Given the description of an element on the screen output the (x, y) to click on. 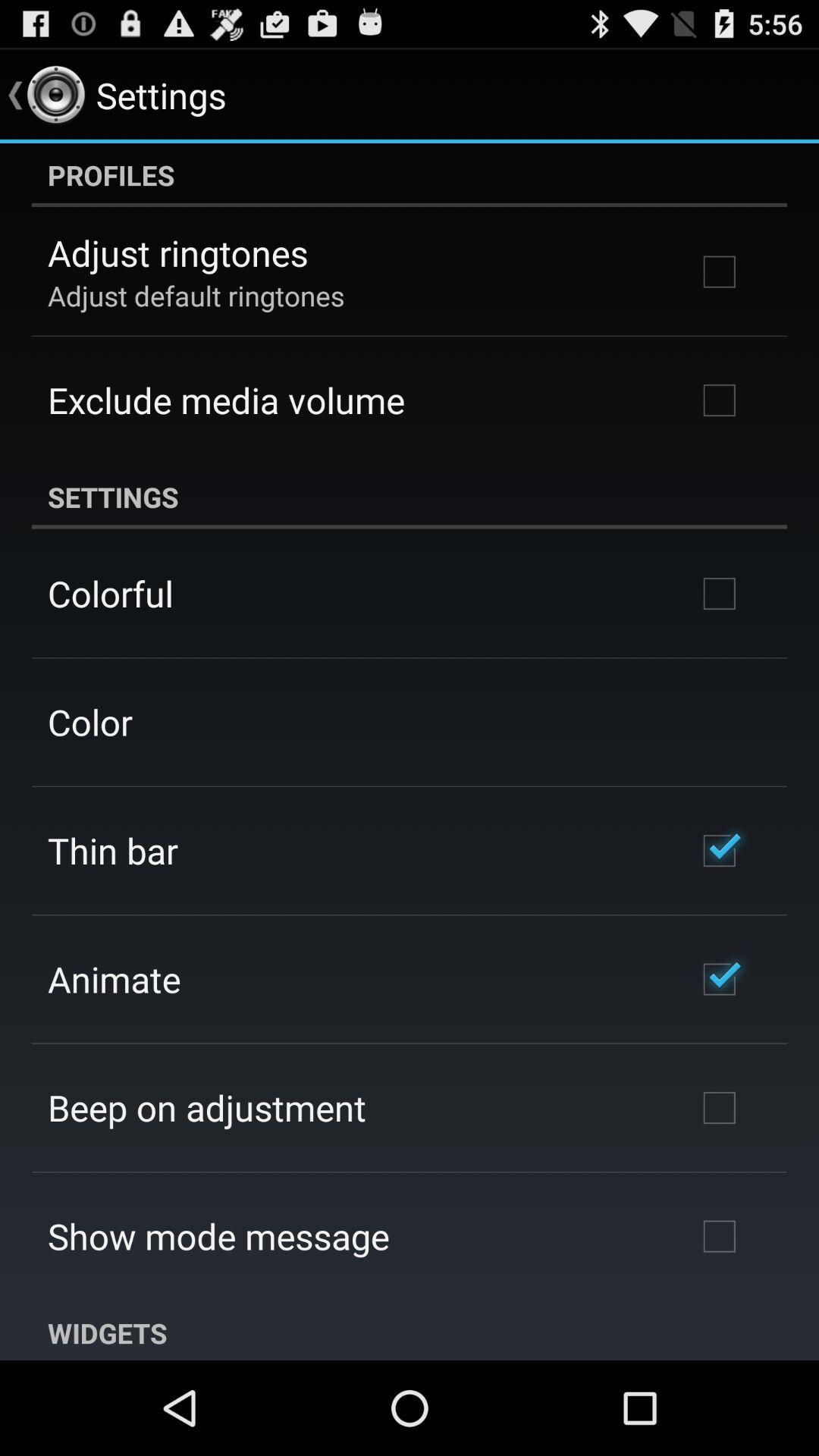
select app above widgets item (218, 1236)
